Given the description of an element on the screen output the (x, y) to click on. 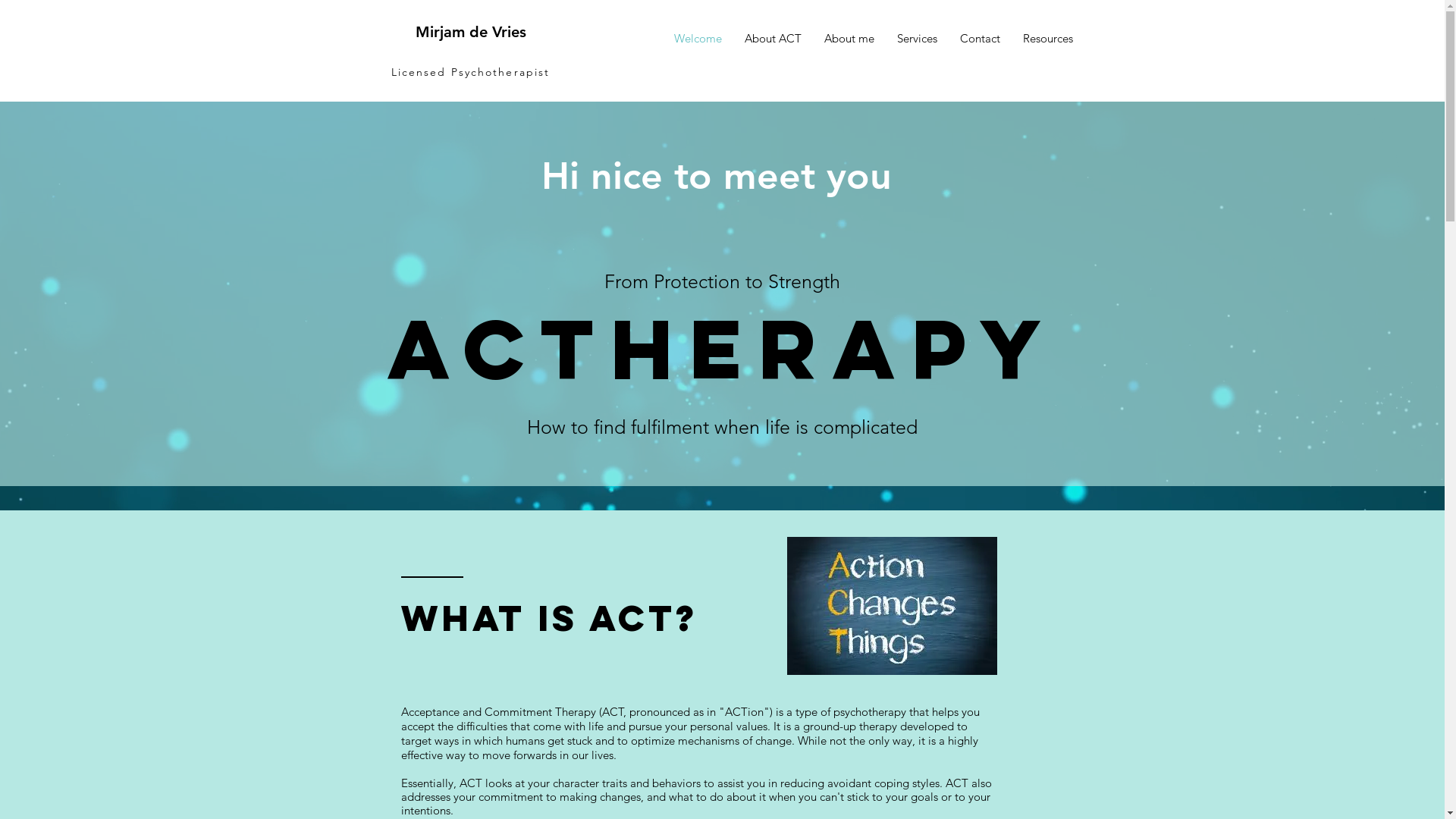
Services Element type: text (916, 38)
About ACT Element type: text (772, 38)
Mirjam de Vries Element type: text (470, 31)
Licensed Psychotherapist Element type: text (470, 71)
Welcome Element type: text (697, 38)
Contact Element type: text (978, 38)
About me Element type: text (848, 38)
Resources Element type: text (1047, 38)
